Given the description of an element on the screen output the (x, y) to click on. 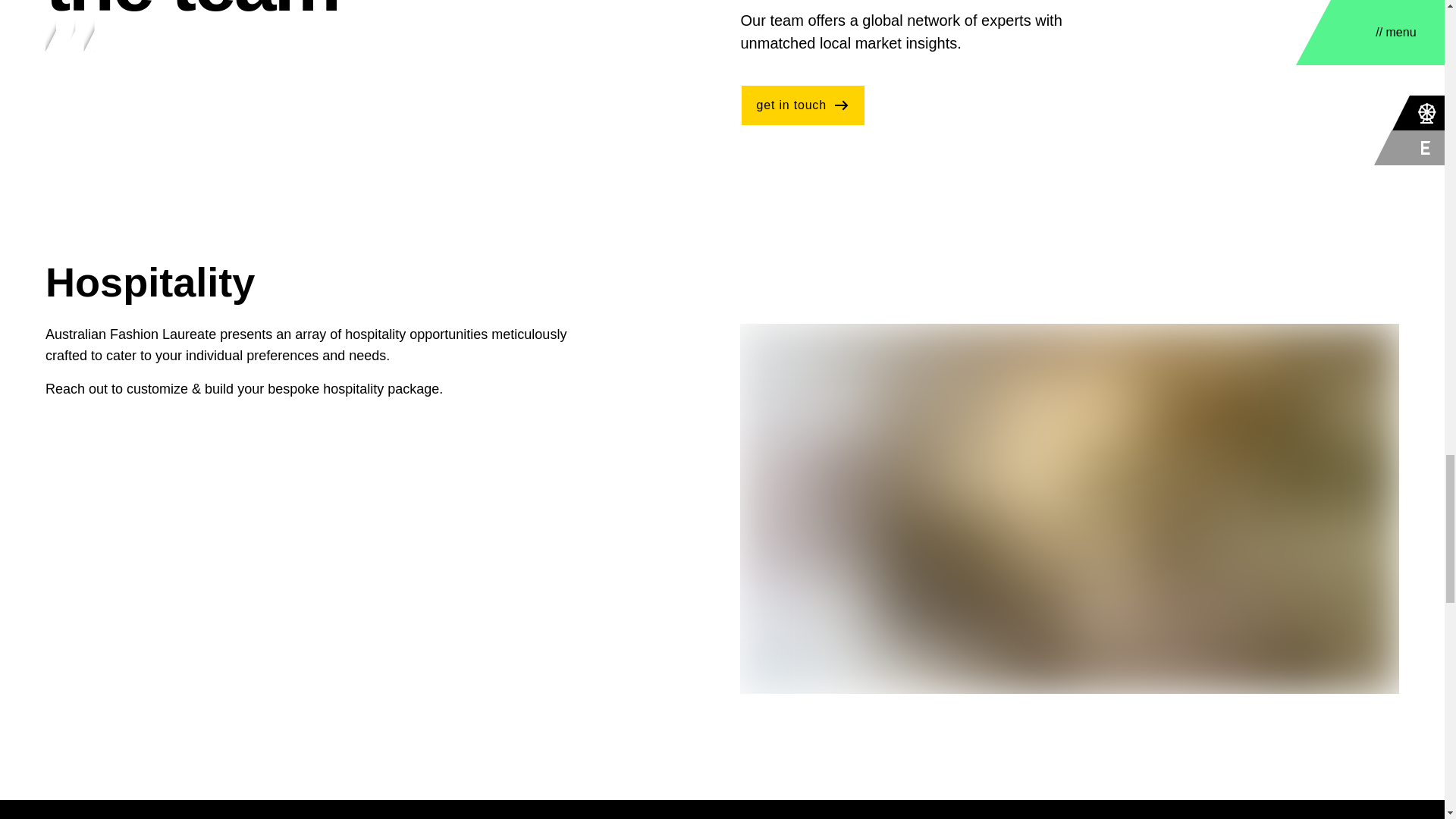
get in touch (801, 105)
